Given the description of an element on the screen output the (x, y) to click on. 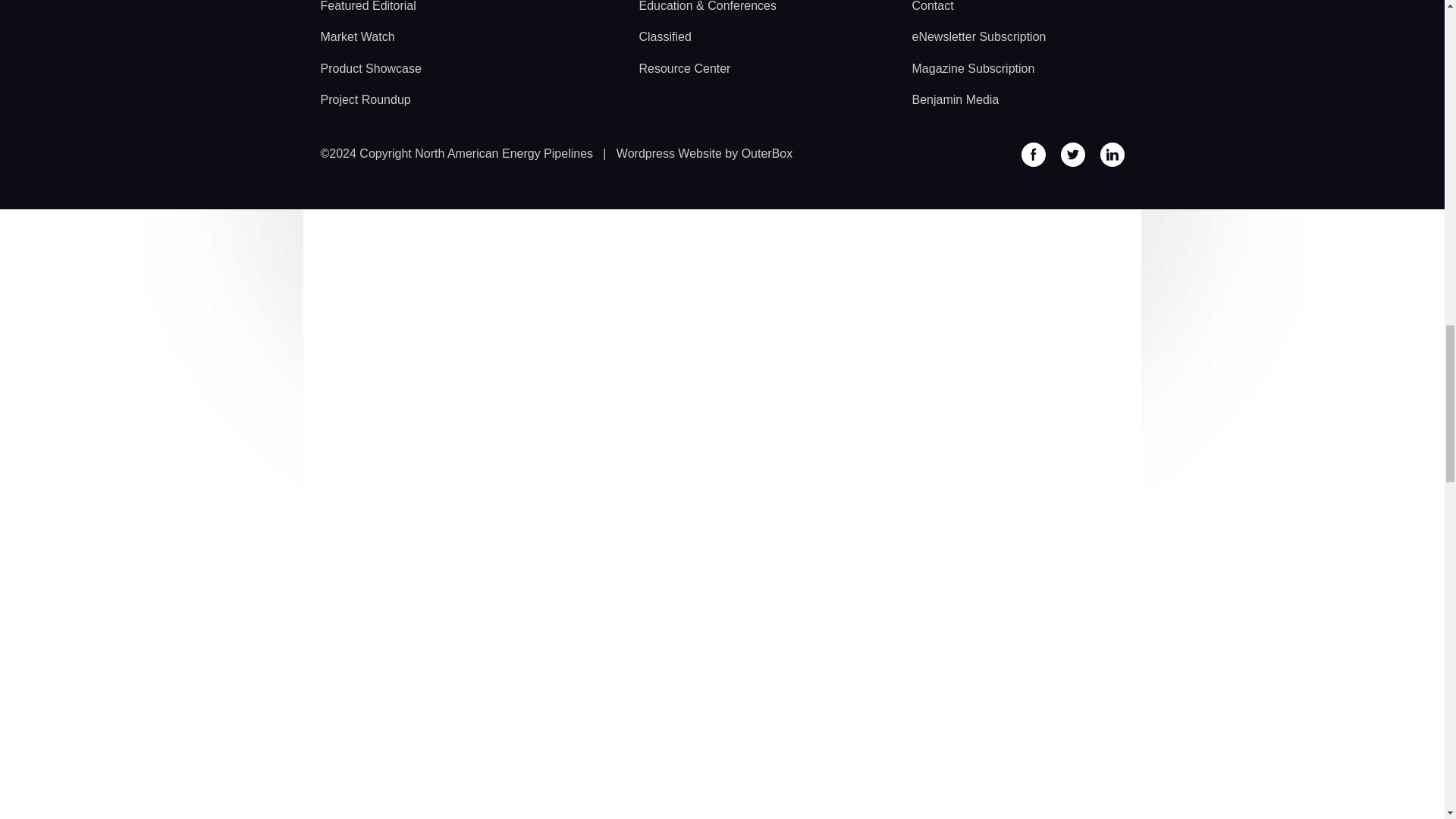
Project Roundup (365, 99)
Product Showcase (370, 68)
Featured Editorial (367, 9)
Outerbox (703, 153)
Market Watch (357, 36)
